Given the description of an element on the screen output the (x, y) to click on. 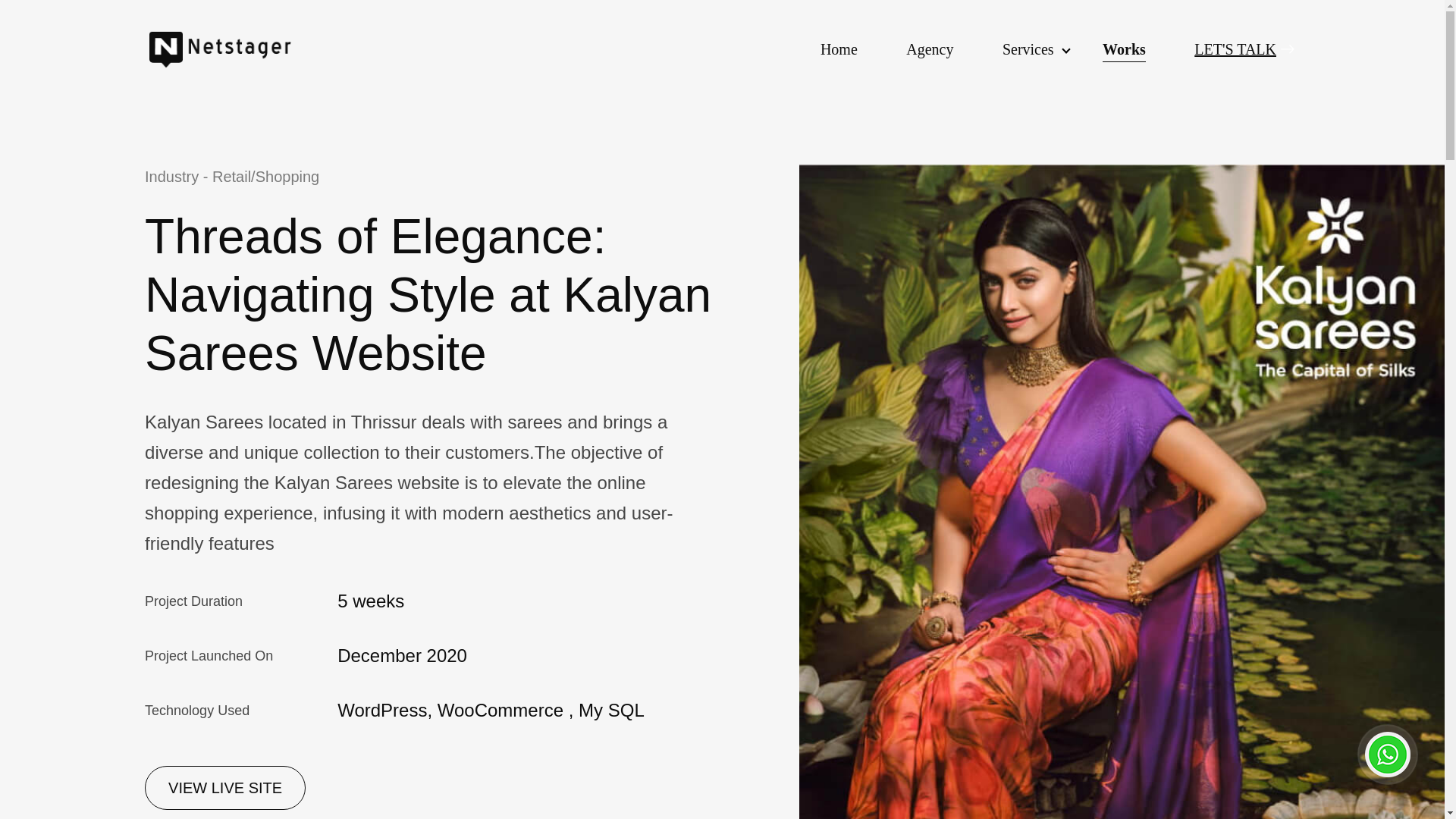
Works (1123, 49)
VIEW LIVE SITE (224, 787)
Agency (929, 49)
Home (839, 49)
Let's talk (1244, 49)
Netstager (236, 48)
Services (1028, 49)
Agency (929, 49)
Works (1123, 49)
Services (1028, 49)
